Given the description of an element on the screen output the (x, y) to click on. 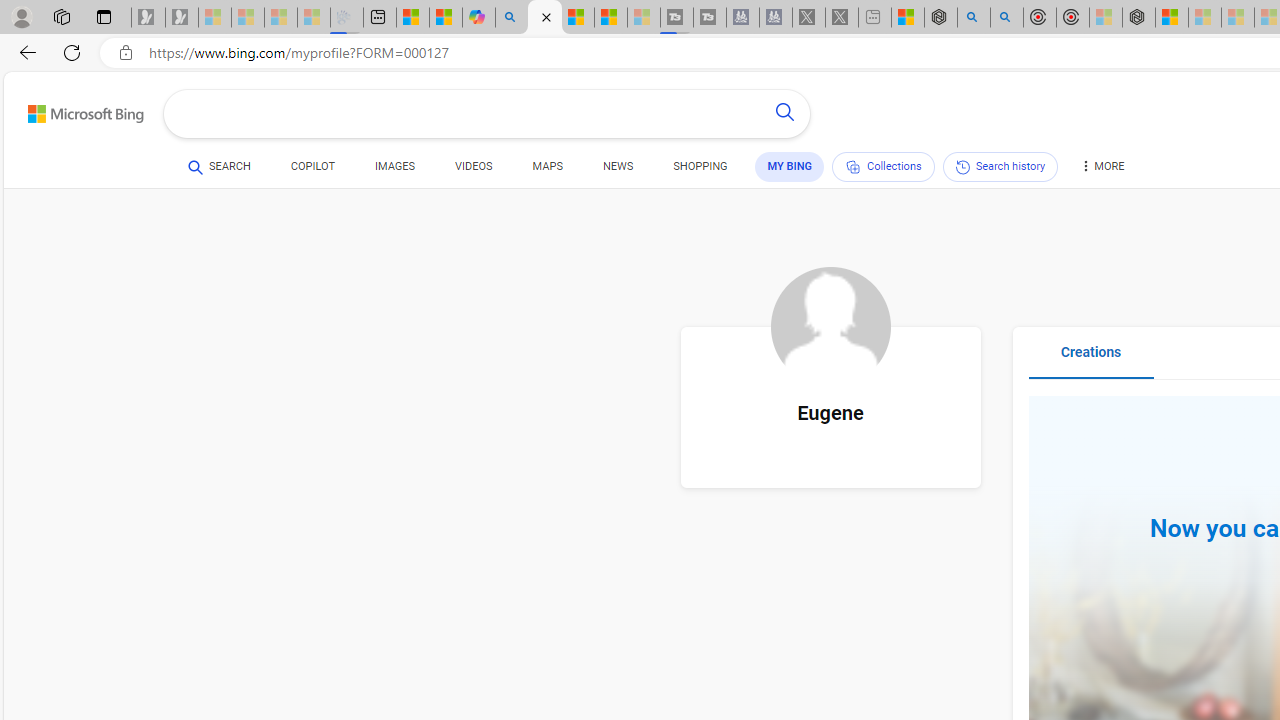
Search button (784, 114)
SEARCH (219, 167)
COPILOT (311, 166)
Search history (1000, 166)
Search history (1000, 166)
VIDEOS (473, 166)
poe - Search (973, 17)
